Given the description of an element on the screen output the (x, y) to click on. 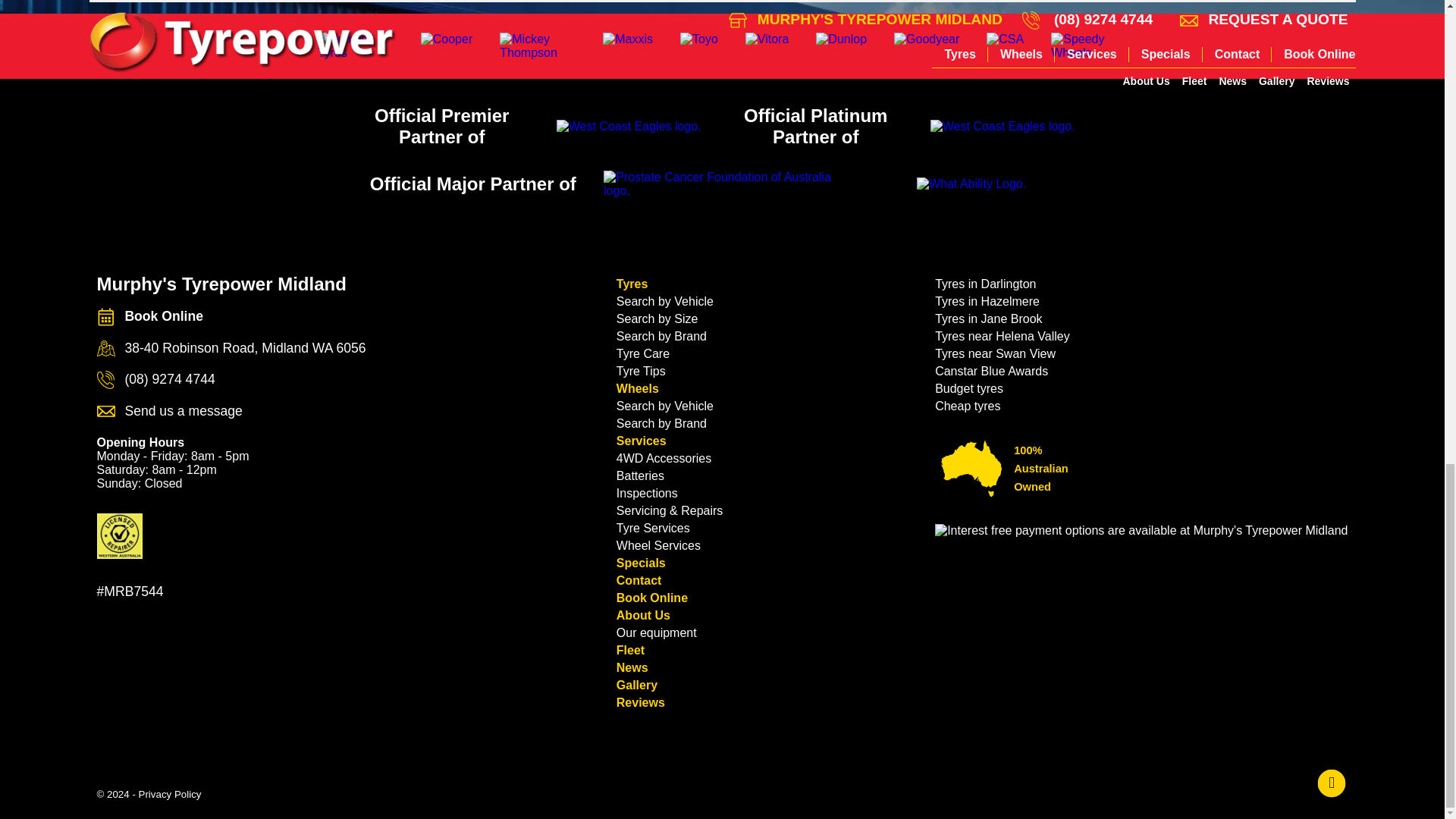
Tyrepower are the Official Sponsor of the Perth Wildcats. (1002, 126)
Tyrepower are the Official Sponsor of the West Coast Eagles. (628, 126)
Link to Facebook social media. (1332, 784)
